Given the description of an element on the screen output the (x, y) to click on. 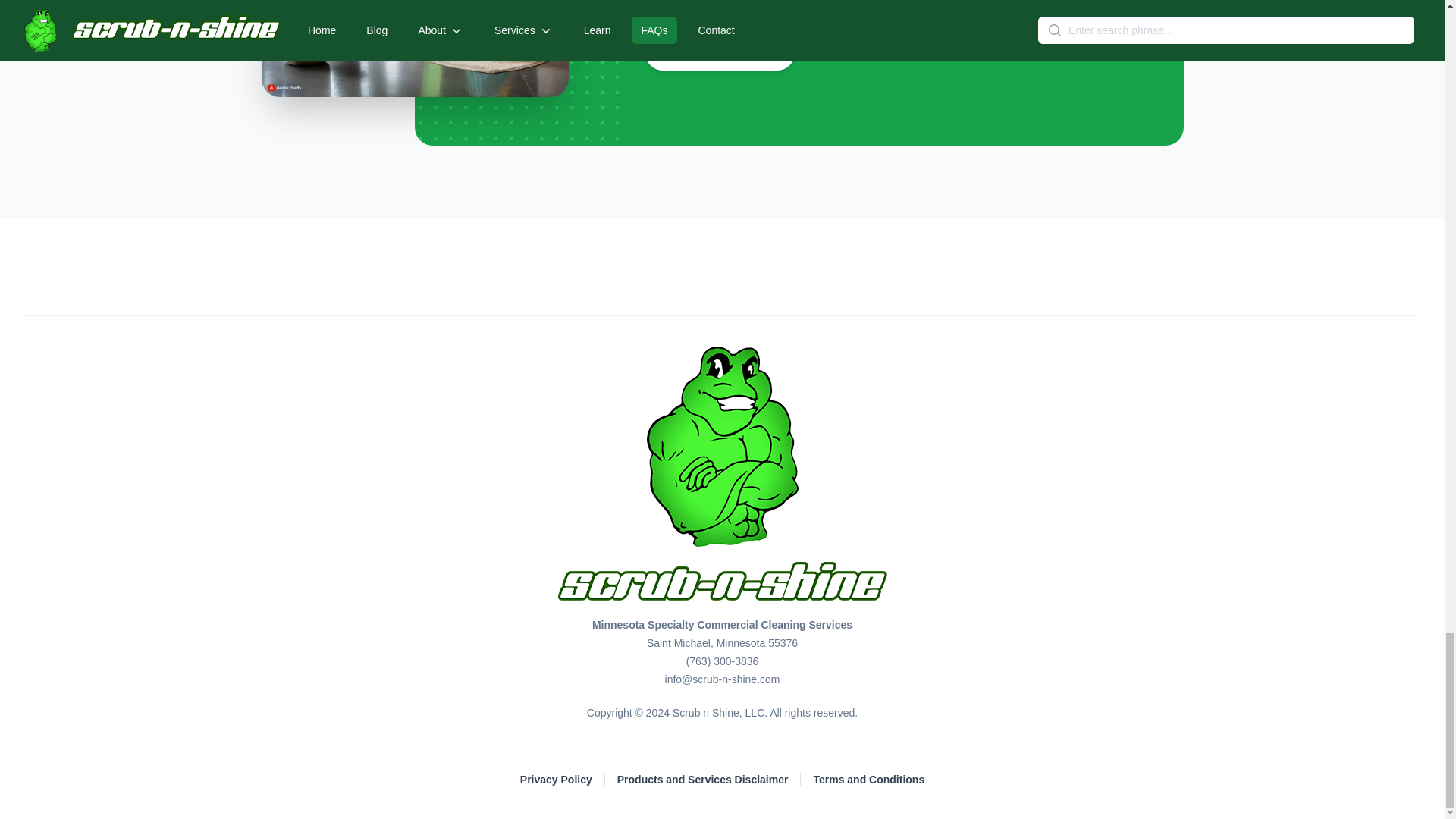
Products and Services Disclaimer (703, 779)
Terms and Conditions (868, 779)
Scrub n Shine, LLC (718, 712)
Privacy Policy (555, 779)
View Our Services (719, 53)
